Given the description of an element on the screen output the (x, y) to click on. 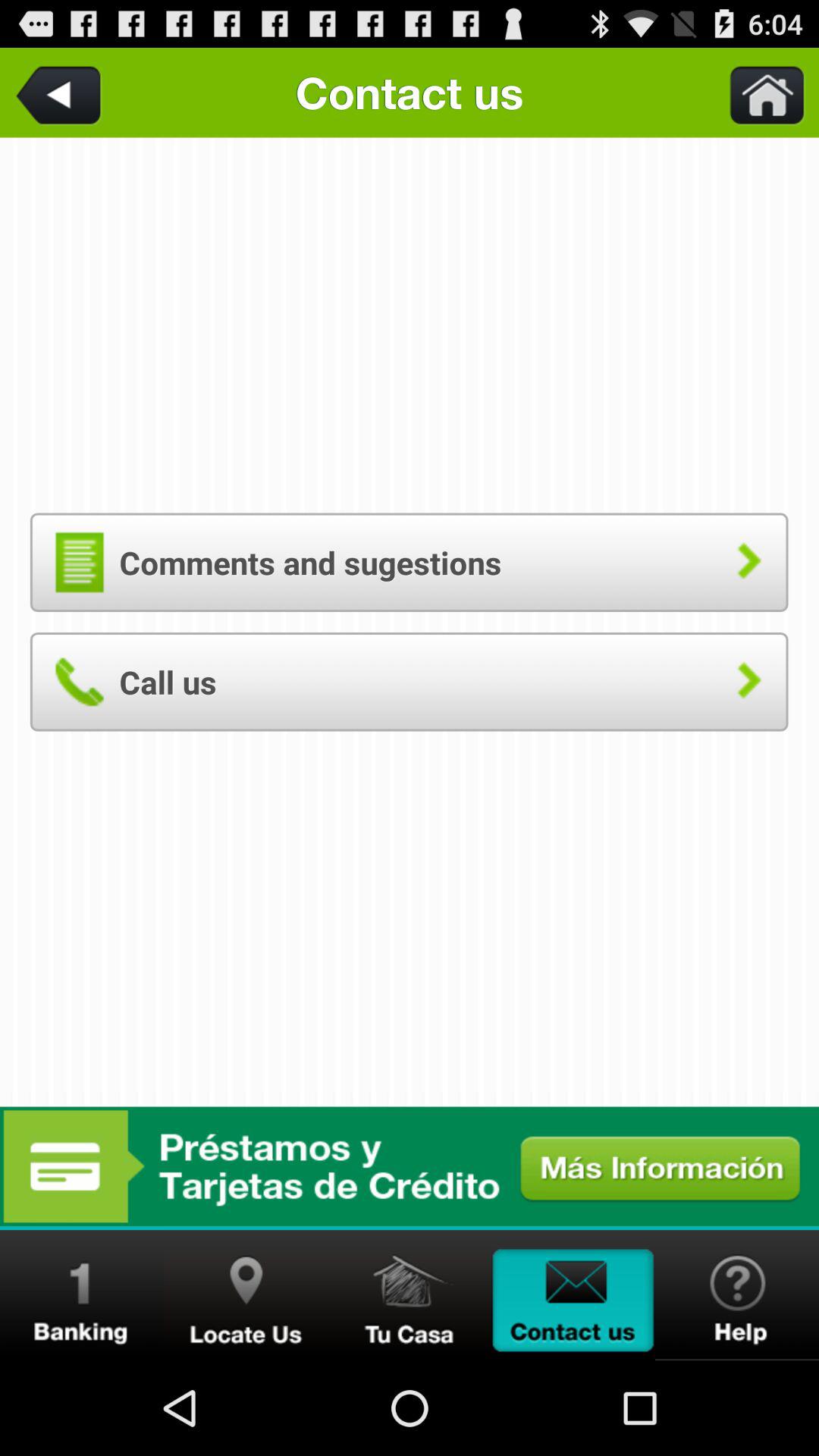
help icon (737, 1295)
